Given the description of an element on the screen output the (x, y) to click on. 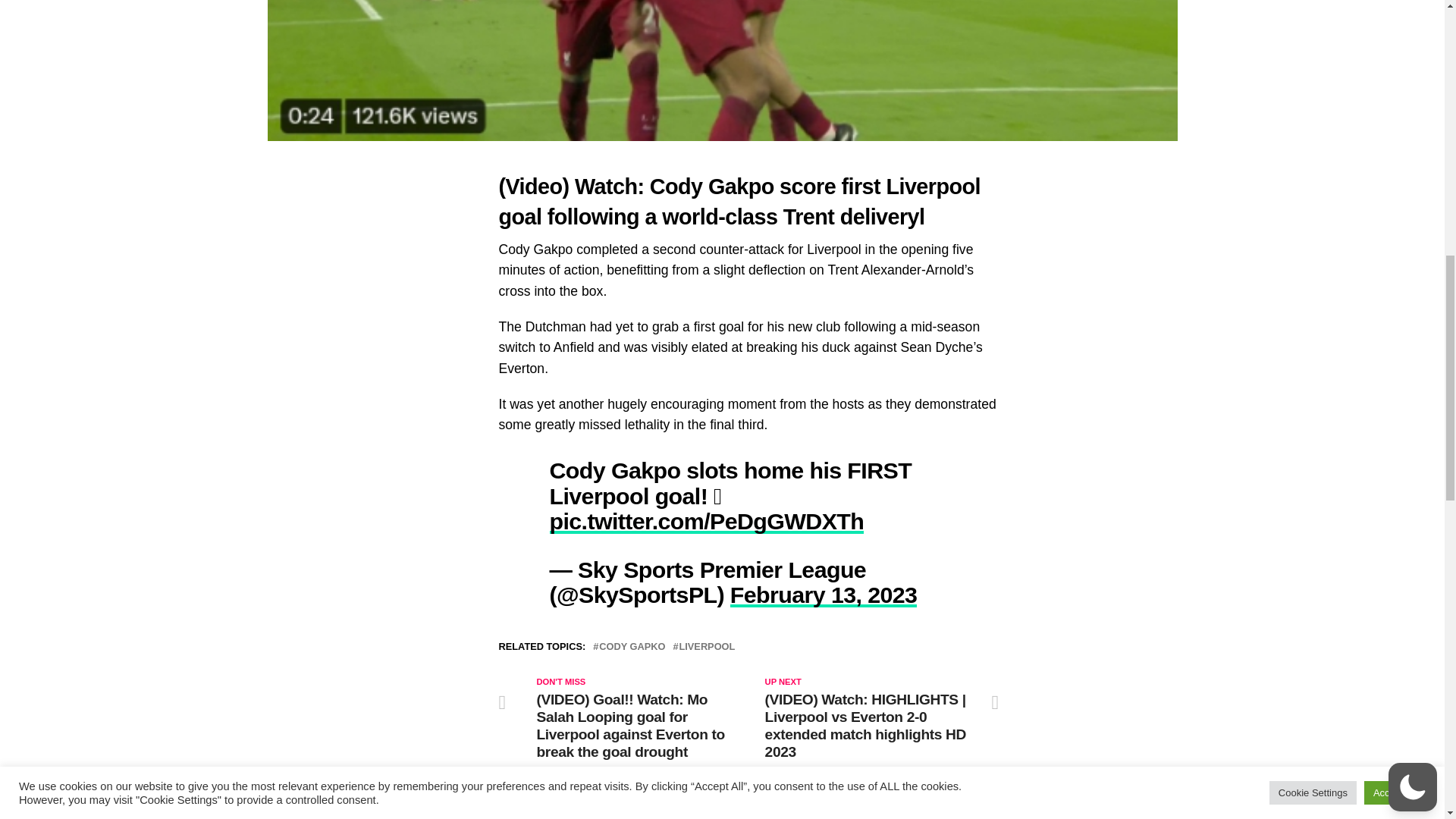
LIVERPOOL (706, 646)
February 13, 2023 (823, 594)
CODY GAPKO (631, 646)
